Given the description of an element on the screen output the (x, y) to click on. 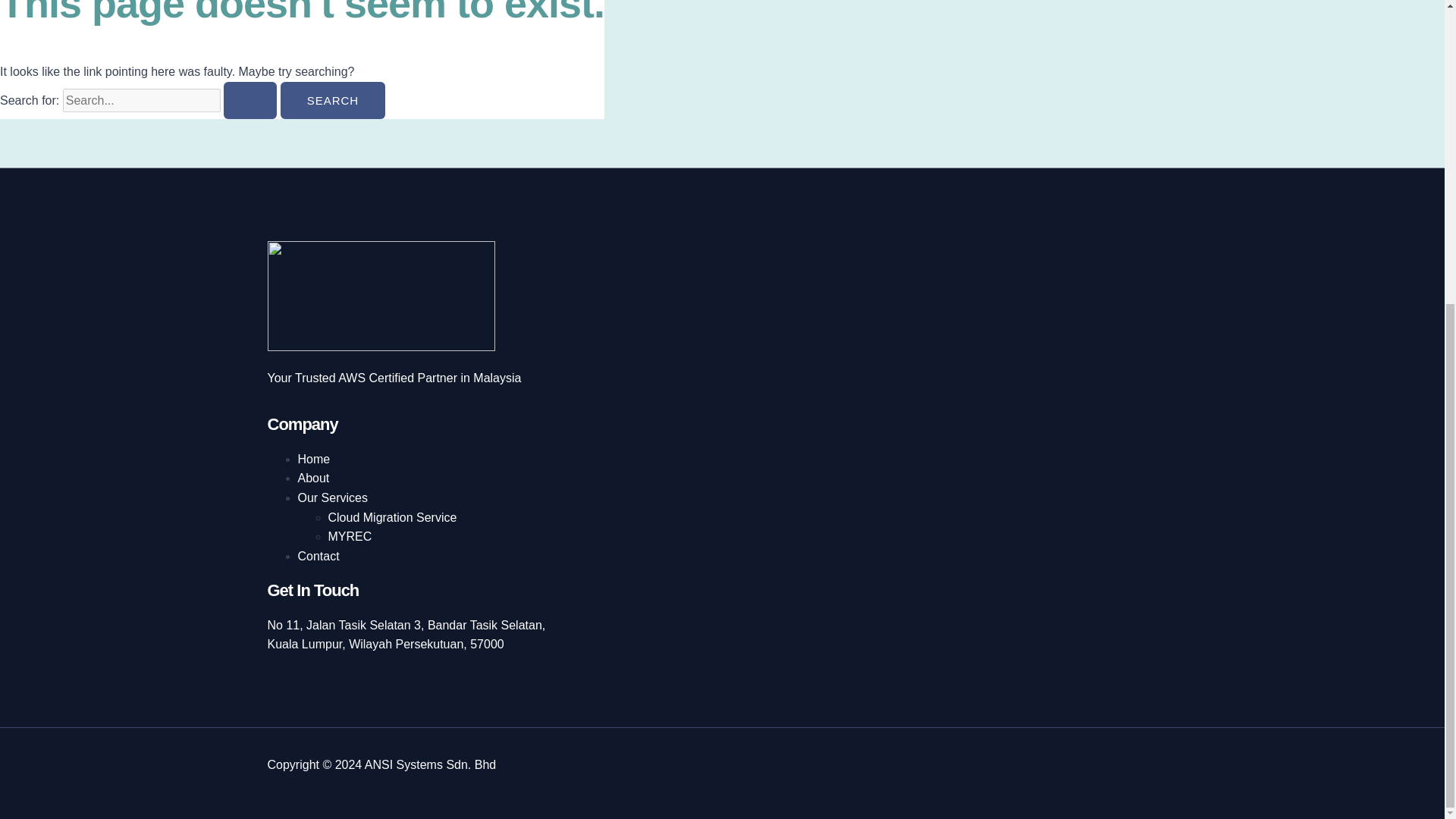
Search (333, 99)
Search (333, 99)
MYREC (349, 535)
Cloud Migration Service (392, 517)
Search (333, 99)
Contact (318, 555)
About (313, 477)
Our Services (331, 497)
Home (313, 459)
